Given the description of an element on the screen output the (x, y) to click on. 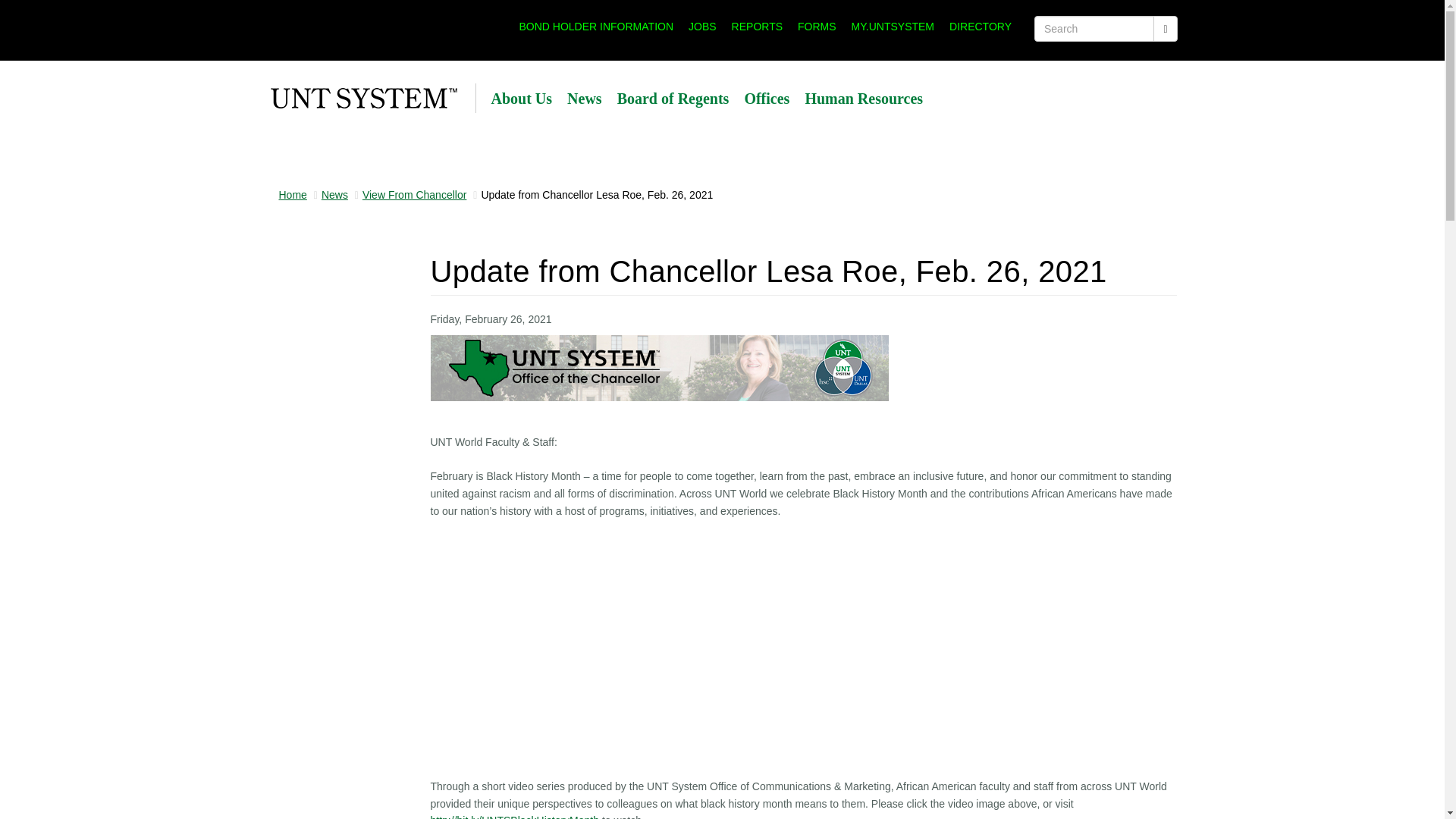
MY.UNTSYSTEM (893, 26)
REPORTS (756, 26)
FORMS (817, 26)
Board of Regents (673, 98)
JOBS (702, 26)
Enter the terms you wish to search for. (1093, 28)
UNT System Logo (362, 98)
About Us (521, 98)
Search (1060, 48)
UNT World Black History Month 2021 (514, 816)
